Given the description of an element on the screen output the (x, y) to click on. 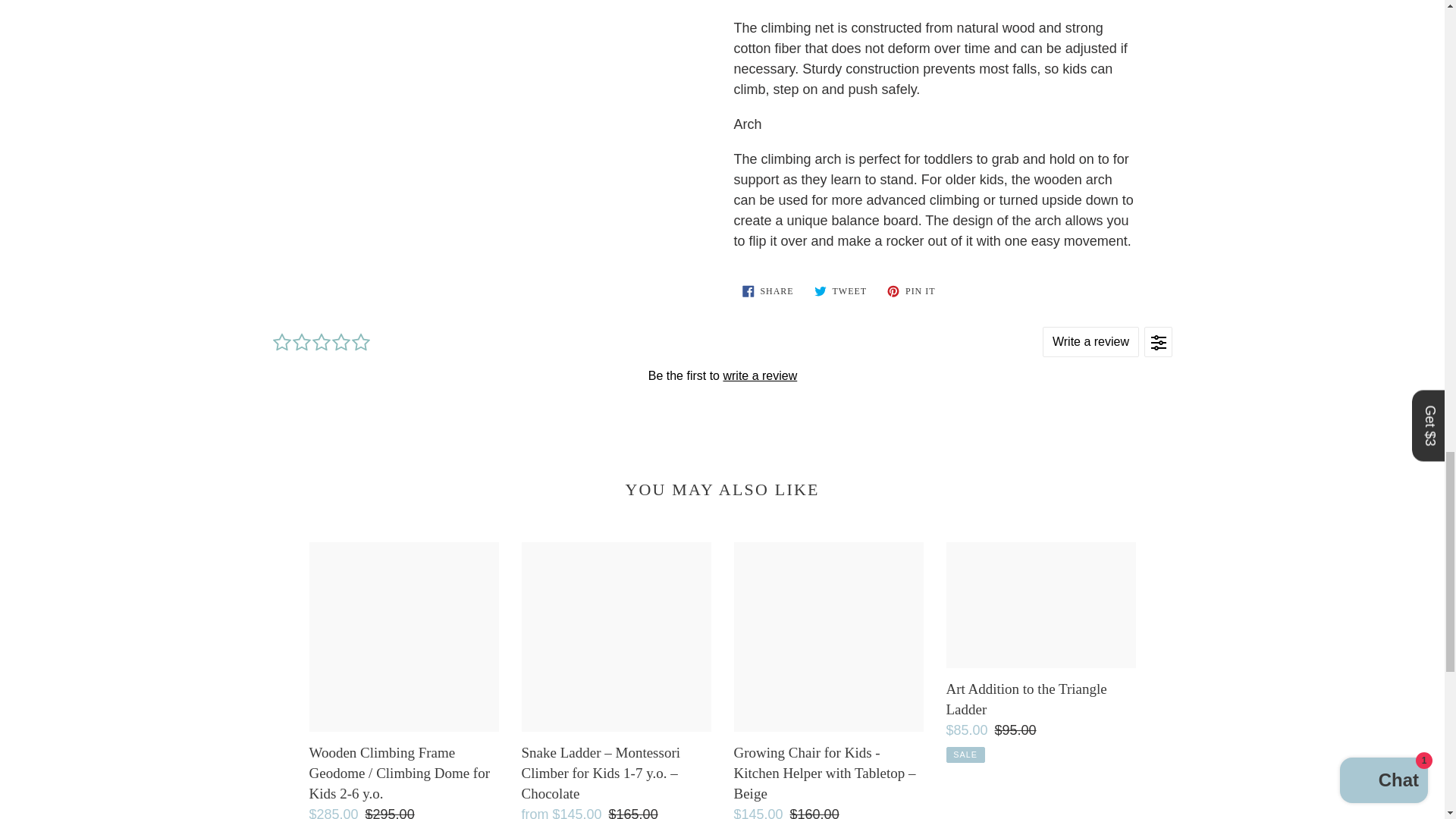
Product reviews widget (721, 375)
